Given the description of an element on the screen output the (x, y) to click on. 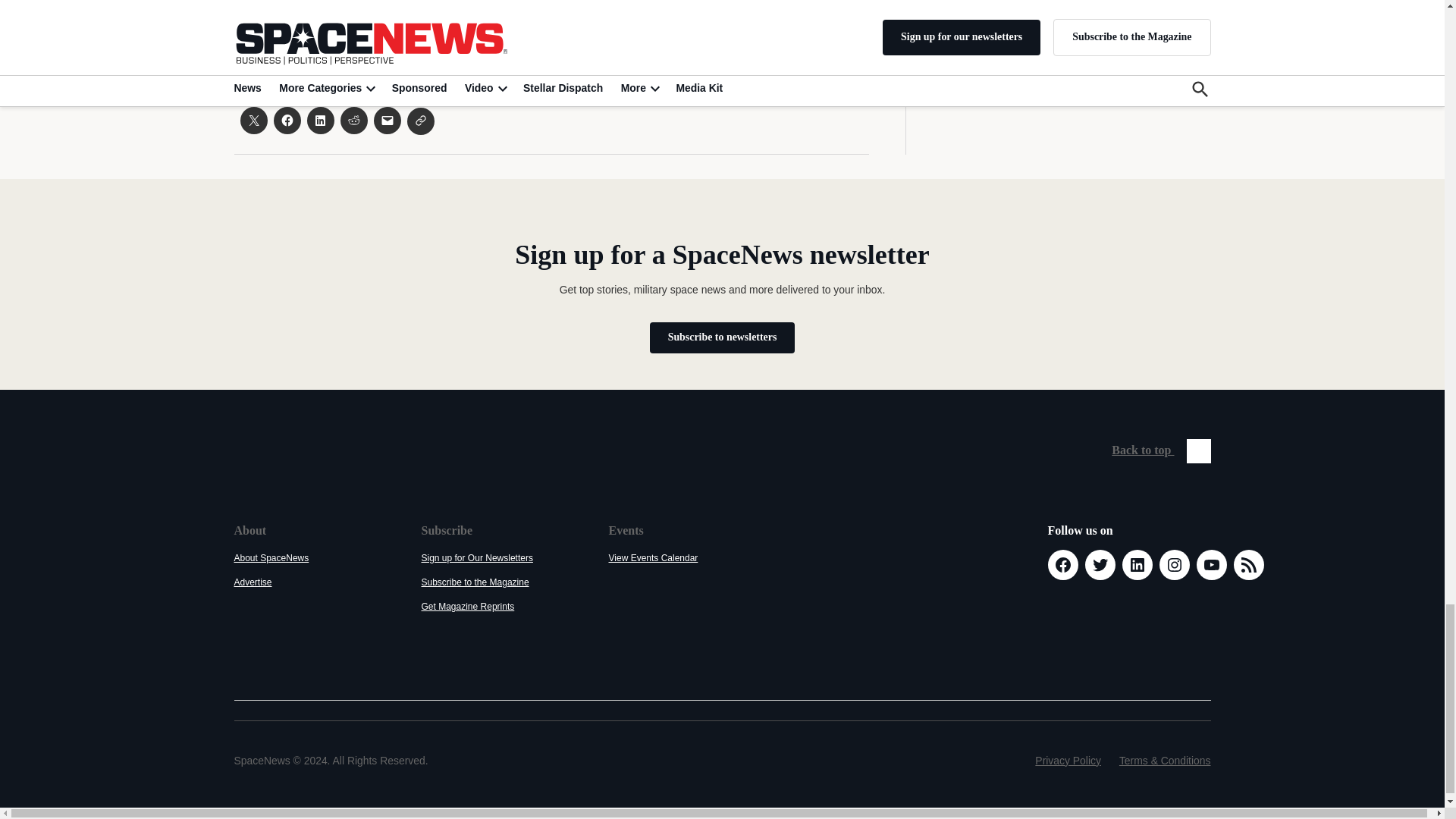
Click to share on X (253, 120)
Click to share on LinkedIn (319, 120)
Click to share on Reddit (352, 120)
Click to share on Clipboard (419, 121)
Click to share on Facebook (286, 120)
Click to email a link to a friend (386, 120)
